Given the description of an element on the screen output the (x, y) to click on. 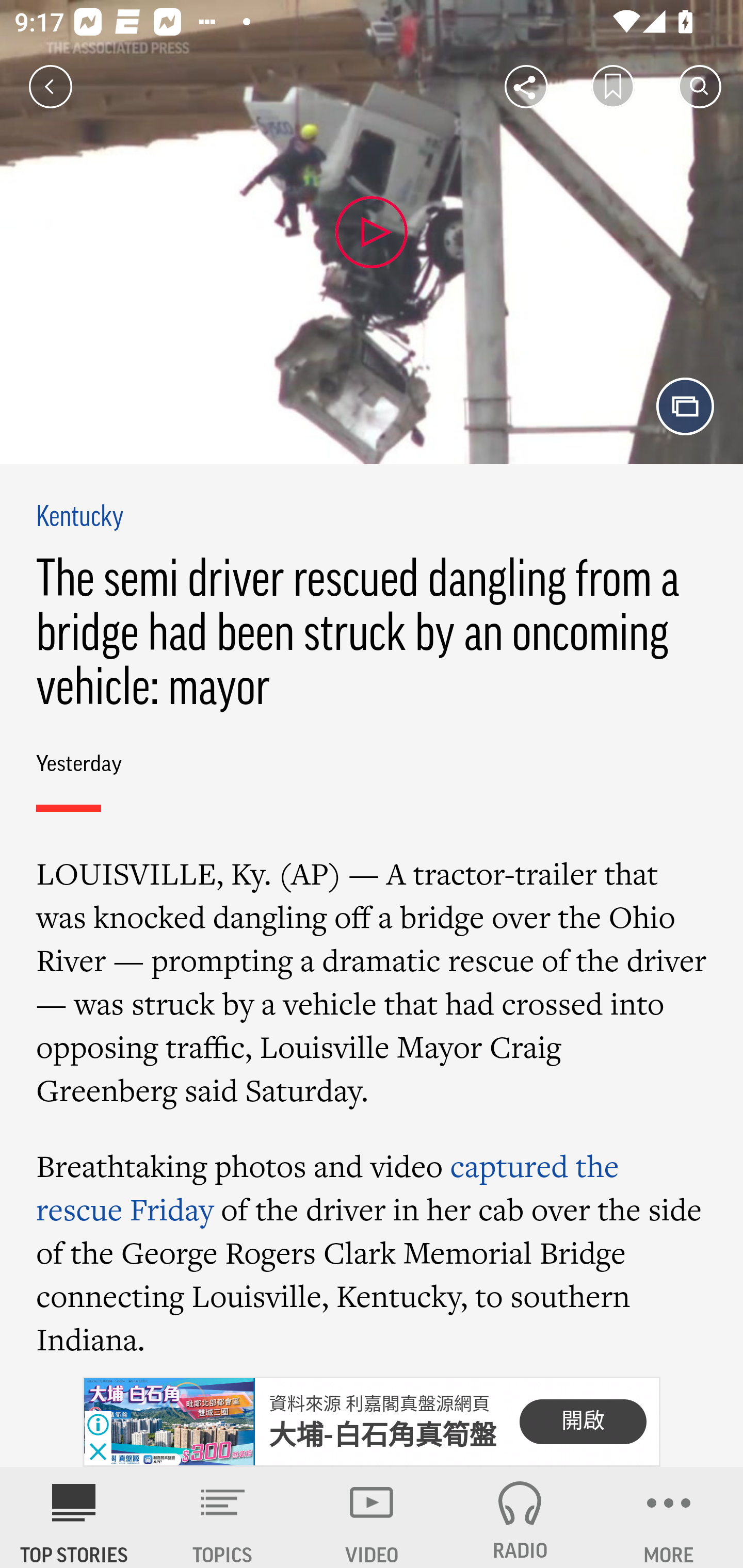
Kentucky (80, 518)
captured the rescue Friday (327, 1186)
B29897659 (168, 1421)
資料來源 利嘉閣真盤源網頁 (379, 1403)
開啟 (582, 1421)
大埔-白石角真筍盤 (382, 1434)
AP News TOP STORIES (74, 1517)
TOPICS (222, 1517)
VIDEO (371, 1517)
RADIO (519, 1517)
MORE (668, 1517)
